Given the description of an element on the screen output the (x, y) to click on. 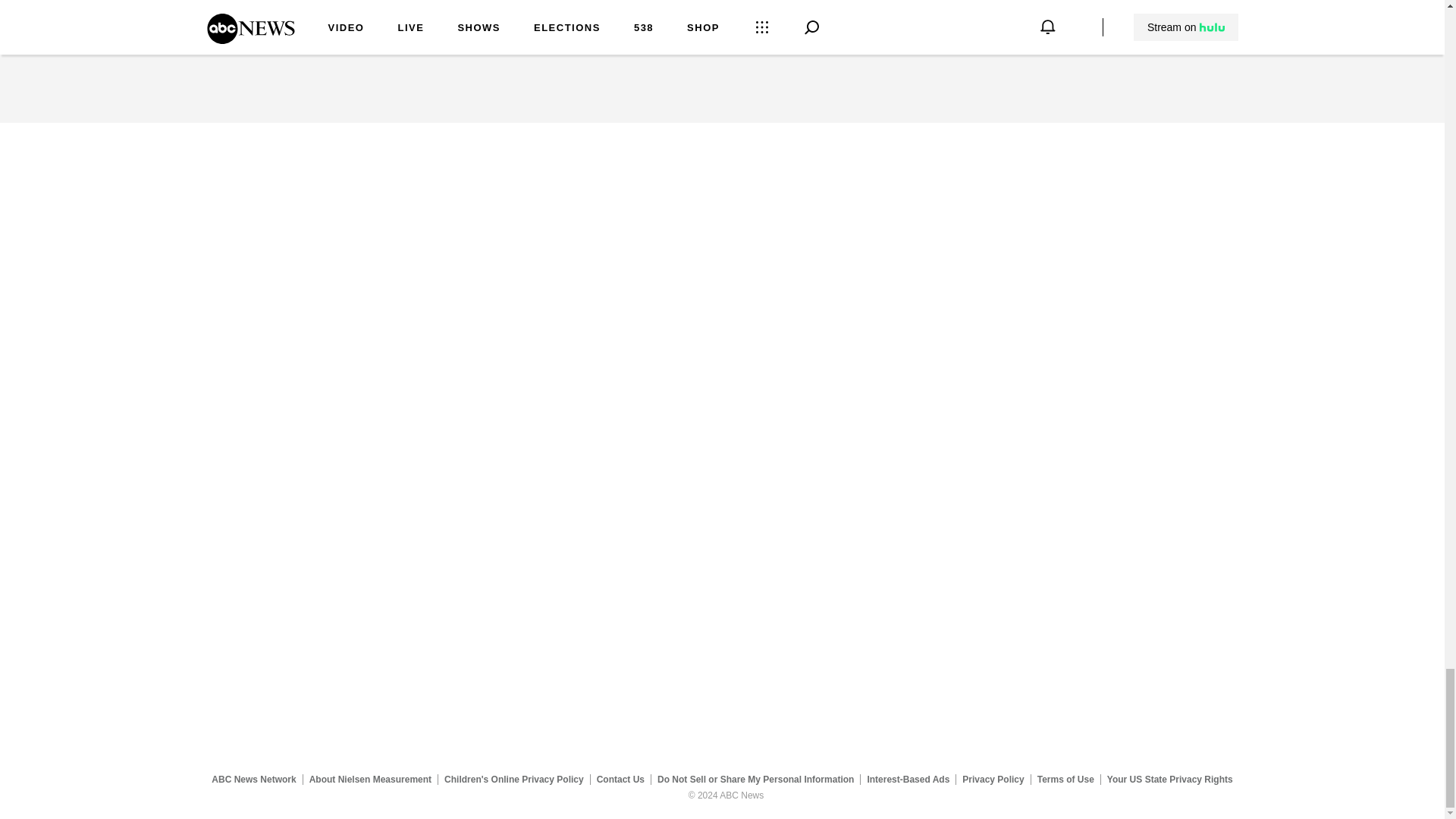
Terms of Use (1065, 778)
Contact Us (620, 778)
About Nielsen Measurement (370, 778)
Children's Online Privacy Policy (514, 778)
Your US State Privacy Rights (1169, 778)
Do Not Sell or Share My Personal Information (755, 778)
Privacy Policy (993, 778)
ABC News Network (253, 778)
Interest-Based Ads (908, 778)
